Given the description of an element on the screen output the (x, y) to click on. 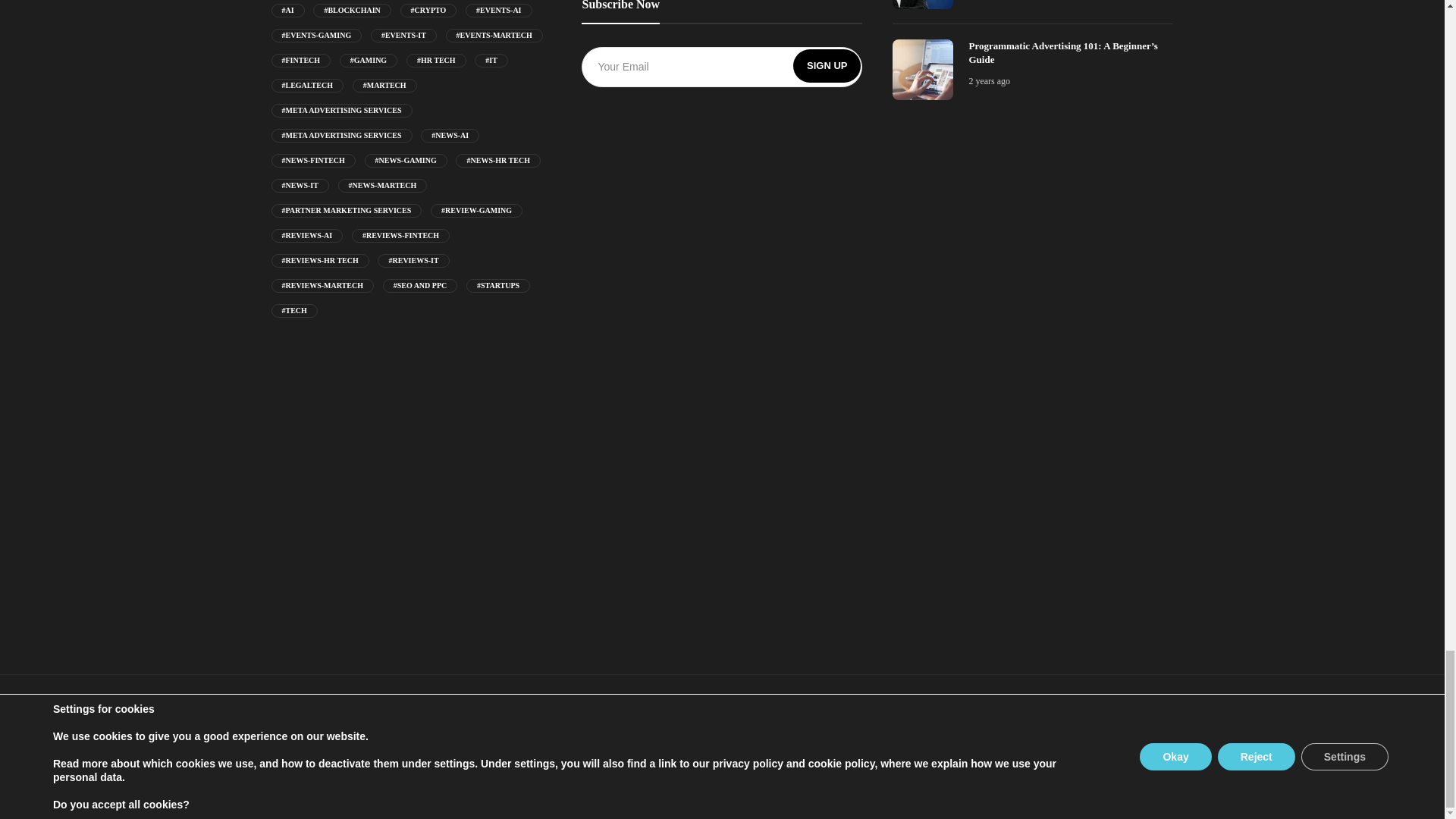
Sign Up (826, 65)
